Given the description of an element on the screen output the (x, y) to click on. 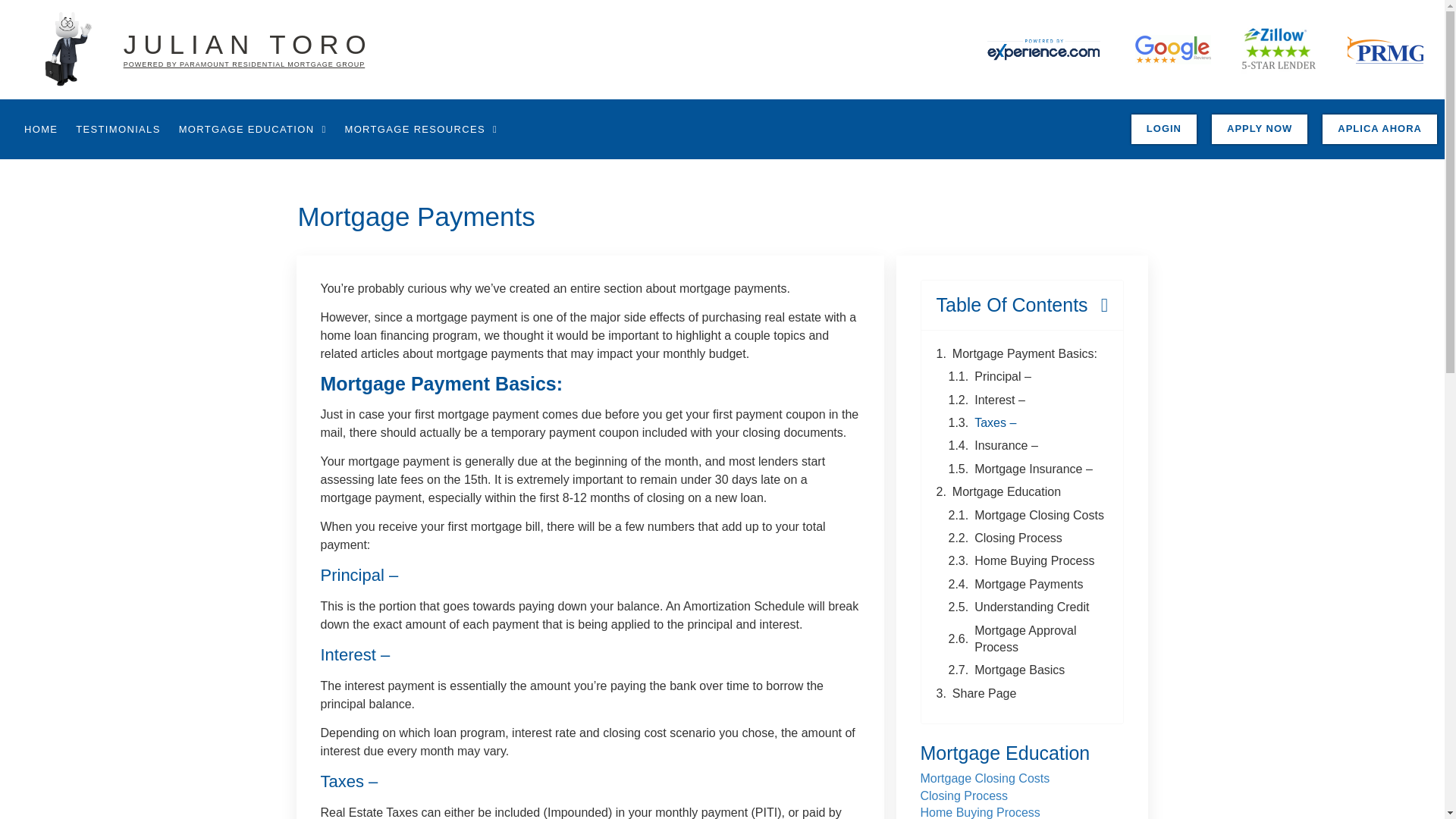
google (1173, 49)
PRMG-Logo-Full-Color (1385, 49)
zillow (1279, 49)
JULIAN TORO (247, 43)
